Given the description of an element on the screen output the (x, y) to click on. 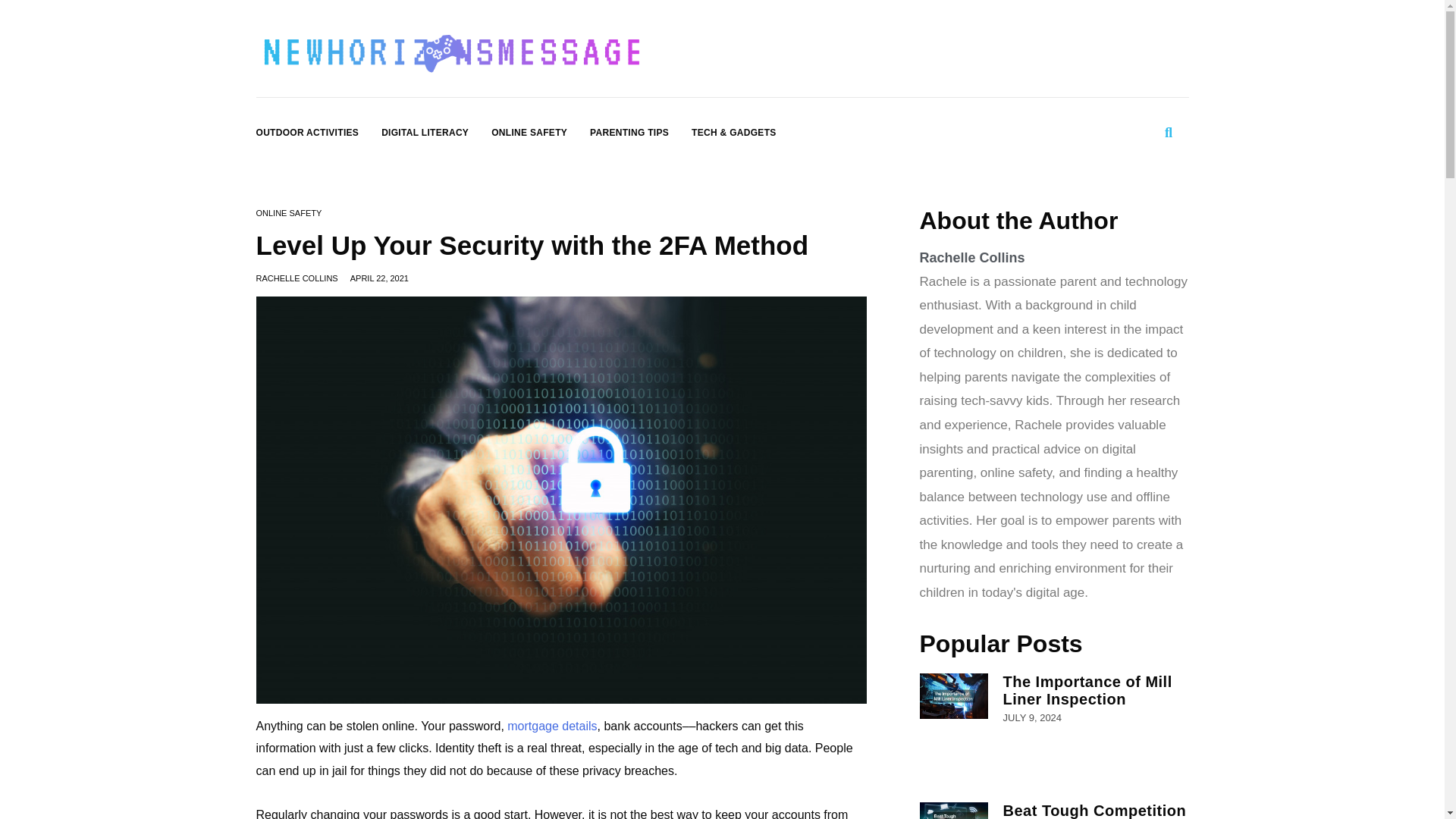
DIGITAL LITERACY (424, 132)
mortgage details (551, 725)
Beat Tough Competition With These Business Tech Tips (1094, 810)
ONLINE SAFETY (288, 212)
ONLINE SAFETY (529, 132)
APRIL 22, 2021 (379, 278)
OUTDOOR ACTIVITIES (307, 132)
The Importance of Mill Liner Inspection (1087, 690)
PARENTING TIPS (628, 132)
